Given the description of an element on the screen output the (x, y) to click on. 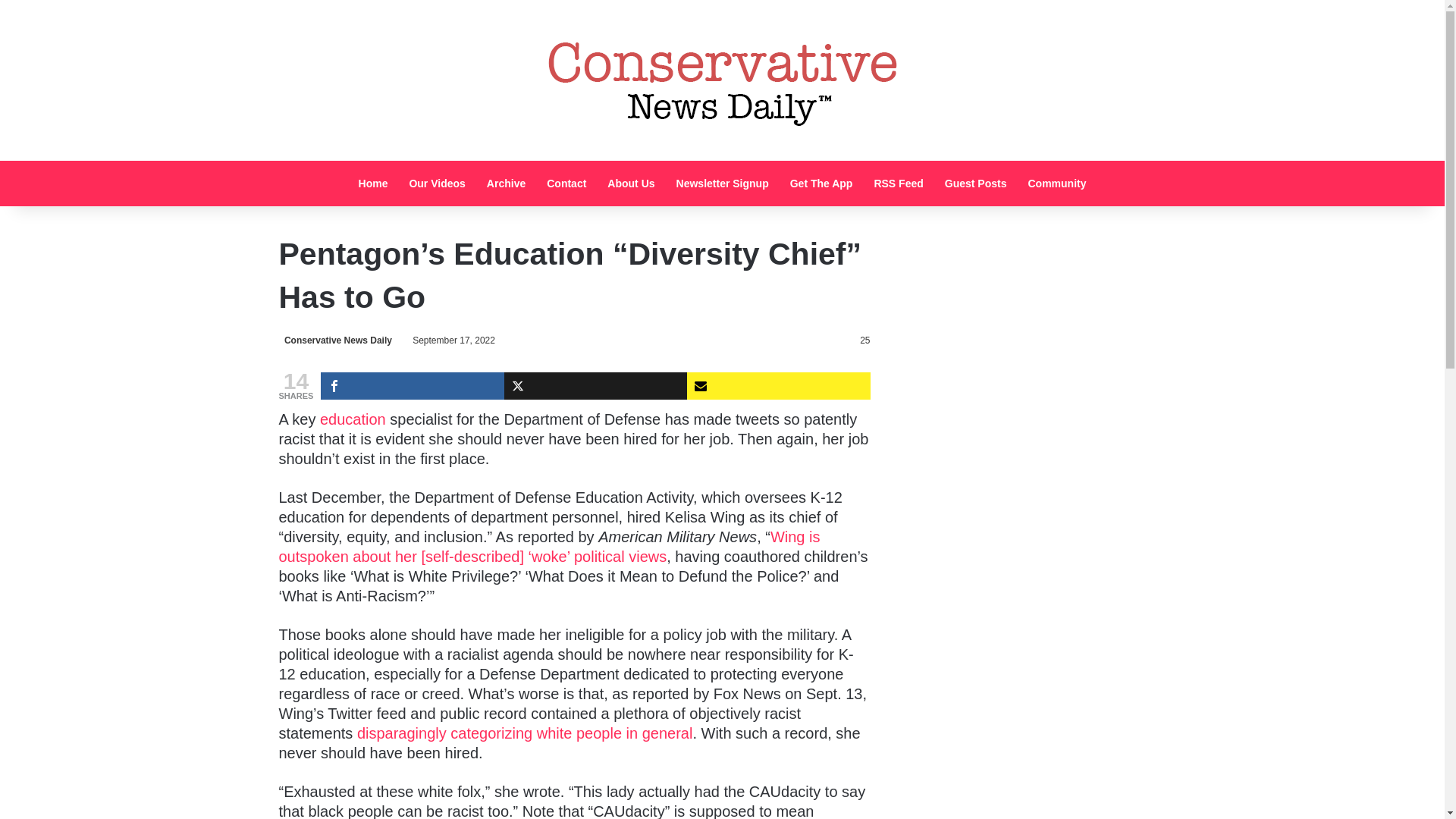
Home (372, 183)
Twitter (595, 385)
About Us (630, 183)
Archive (505, 183)
Newsletter Signup (721, 183)
Subscribe (778, 385)
disparagingly categorizing white people in general (524, 733)
Conservative News Daily (335, 339)
Contact (565, 183)
RSS Feed (898, 183)
